Given the description of an element on the screen output the (x, y) to click on. 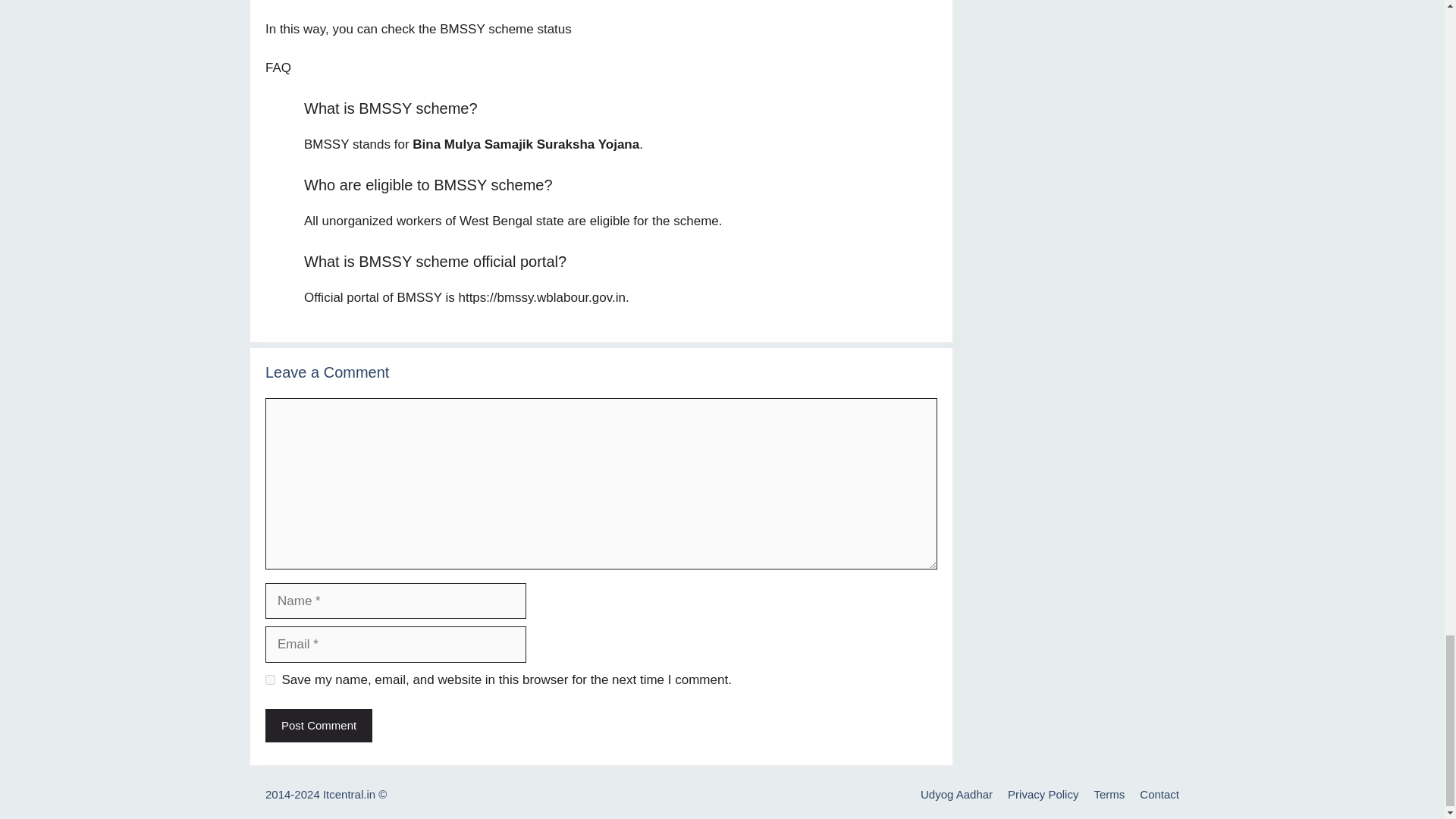
Post Comment (318, 725)
yes (269, 679)
Post Comment (318, 725)
